Given the description of an element on the screen output the (x, y) to click on. 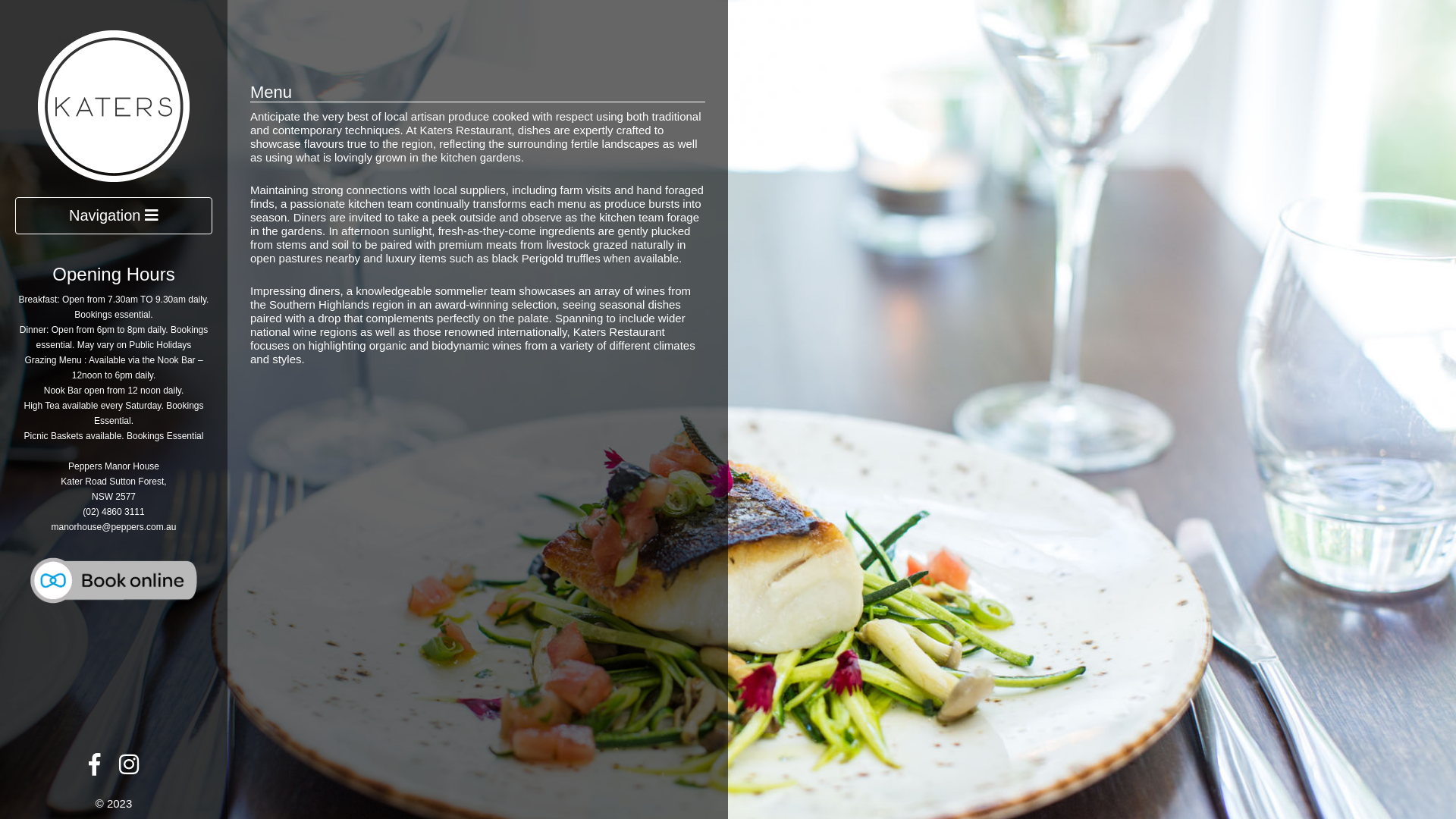
Katers Restaurant Element type: hover (113, 104)
(02) 4860 3111 Element type: text (113, 511)
manorhouse@peppers.com.au Element type: text (113, 526)
Instagram Element type: hover (128, 768)
Facebook Element type: hover (94, 768)
Navigation Element type: text (113, 215)
